Given the description of an element on the screen output the (x, y) to click on. 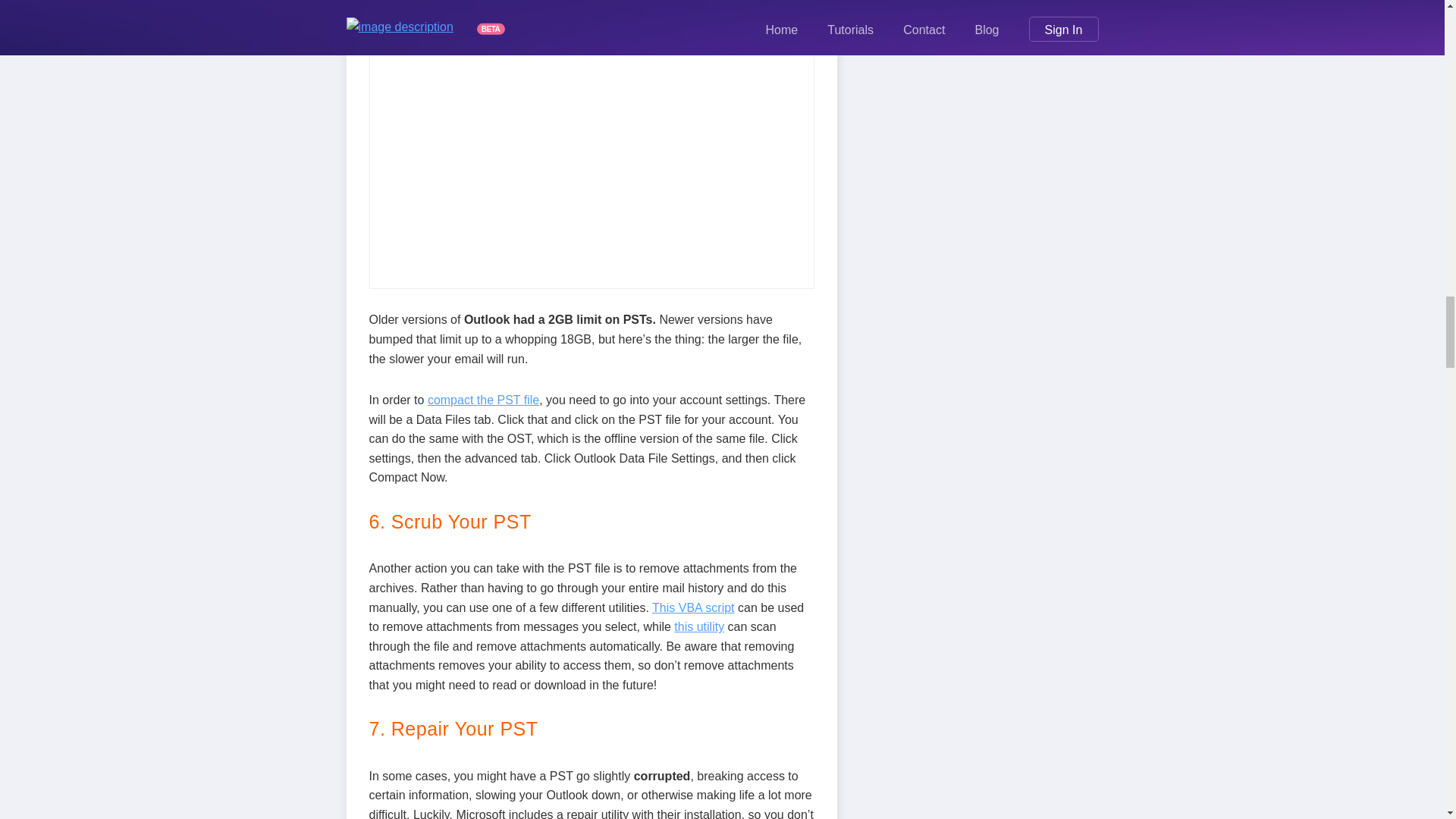
This VBA script (692, 606)
compact the PST file (483, 399)
this utility (698, 626)
